Given the description of an element on the screen output the (x, y) to click on. 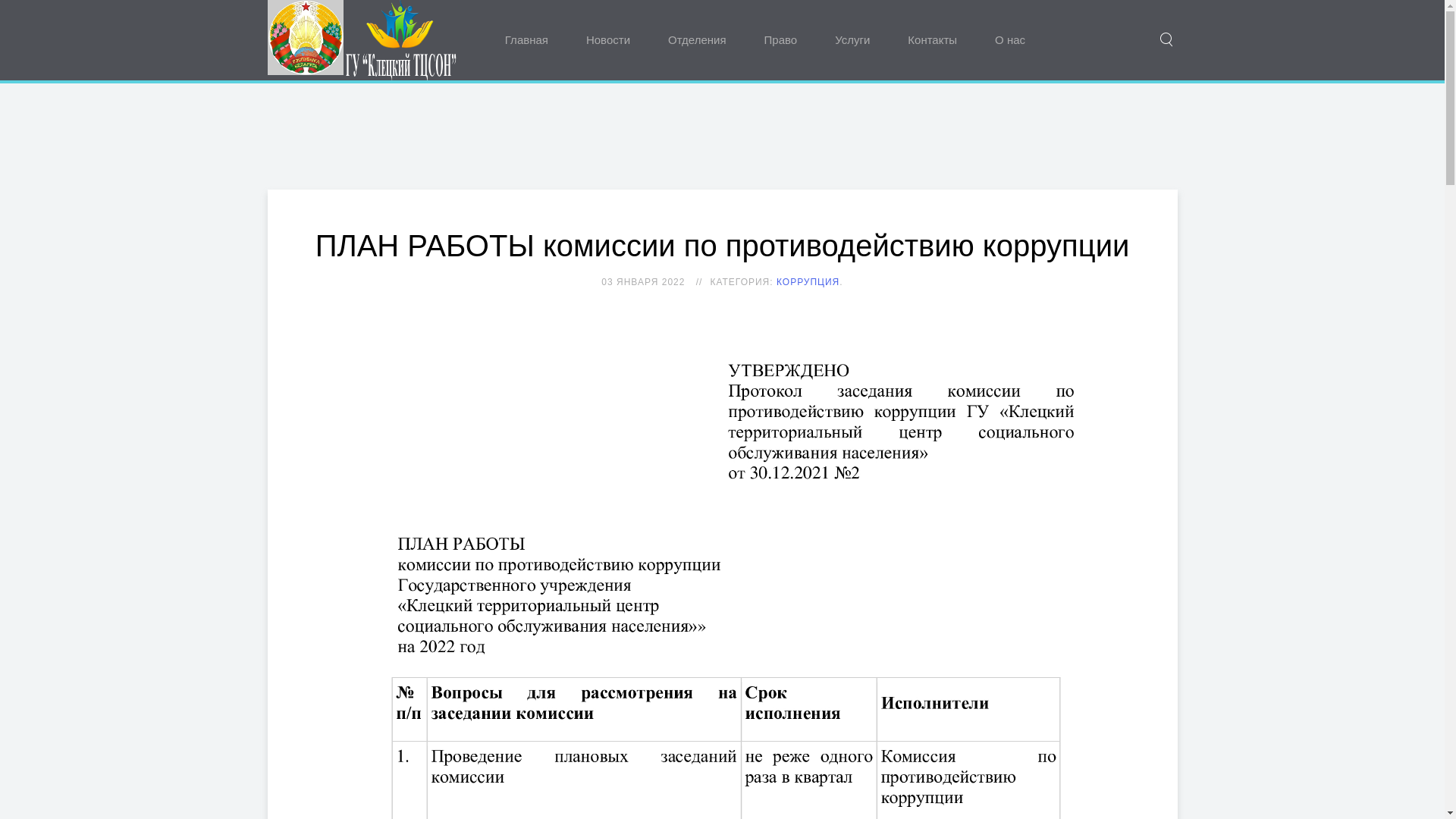
   Element type: text (364, 40)
